Given the description of an element on the screen output the (x, y) to click on. 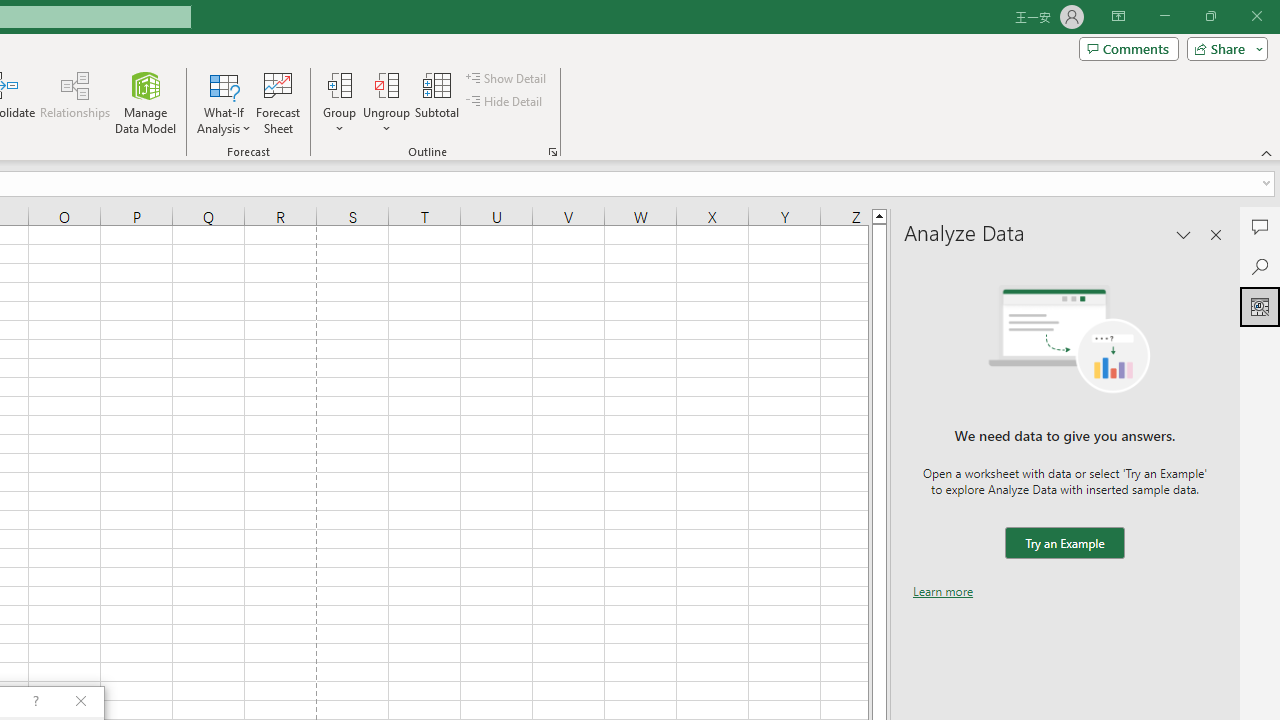
Show Detail (507, 78)
Group and Outline Settings (552, 151)
Hide Detail (505, 101)
Relationships (75, 102)
Learn more (943, 591)
Forecast Sheet (278, 102)
Search (1260, 266)
